Given the description of an element on the screen output the (x, y) to click on. 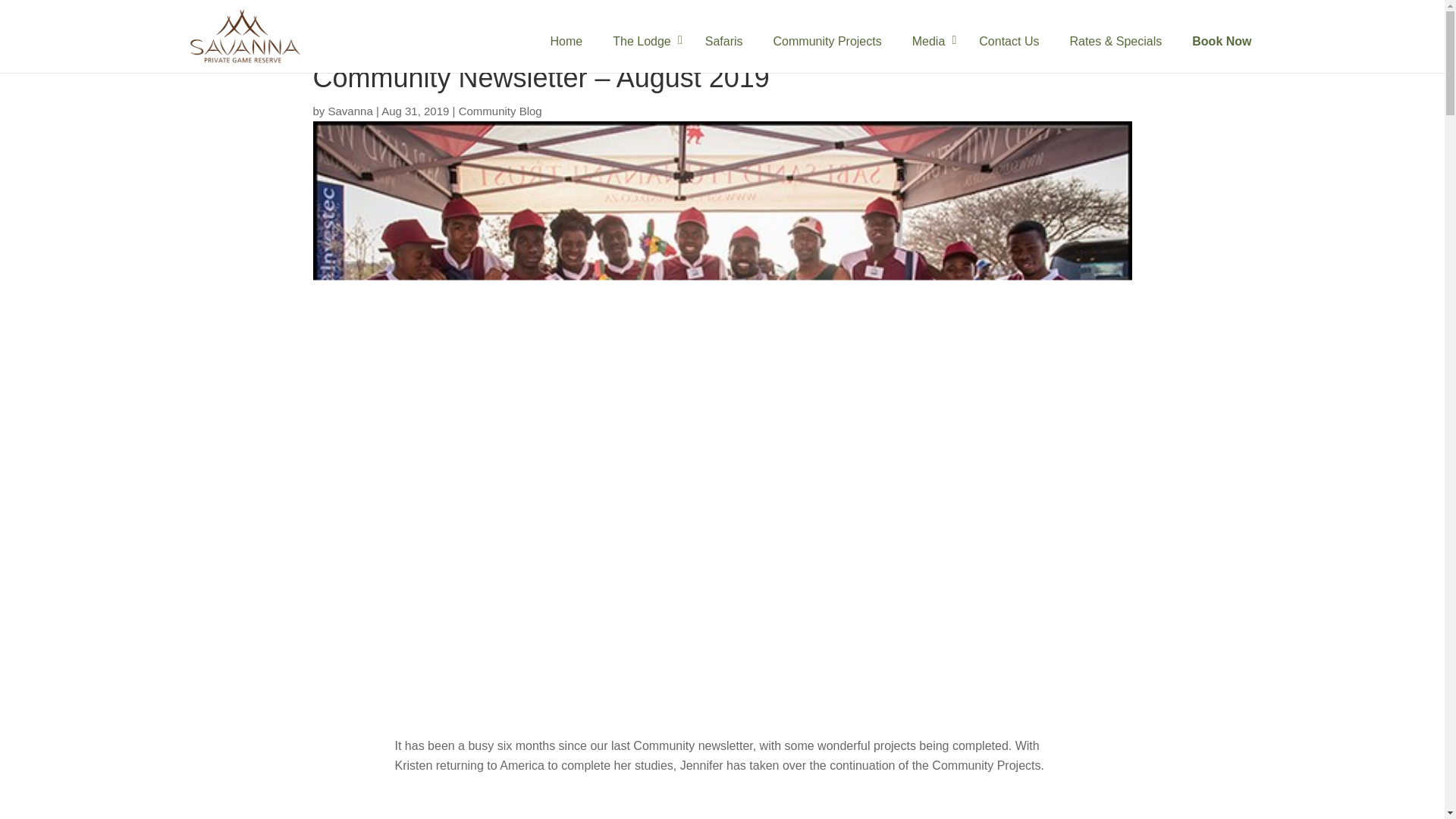
Savanna (350, 110)
Media (929, 47)
Safaris (724, 47)
Contact Us (1008, 47)
Community Projects (827, 47)
Book Now (1221, 47)
Home (566, 47)
Posts by Savanna (350, 110)
Community Blog (499, 110)
